Given the description of an element on the screen output the (x, y) to click on. 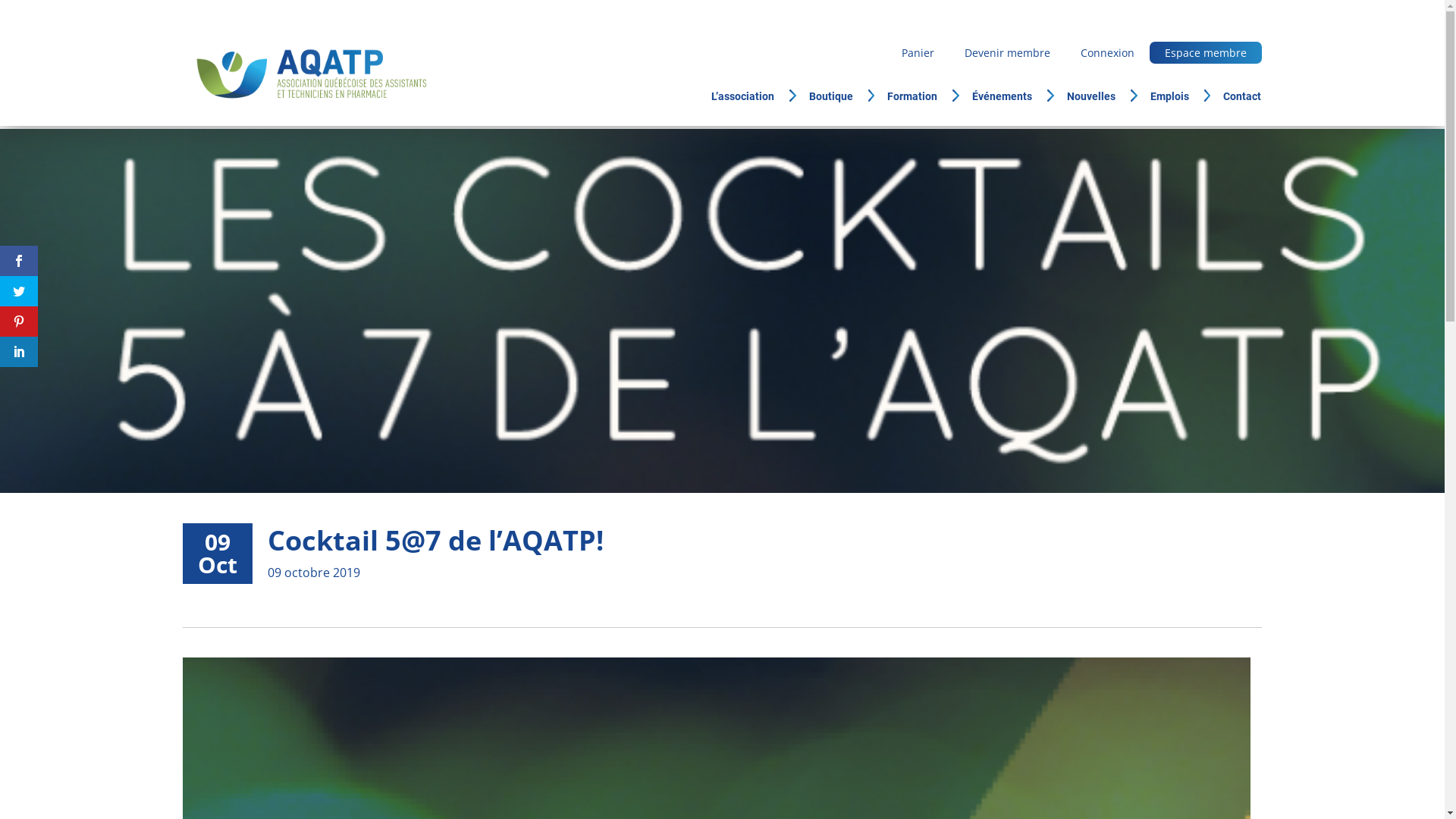
Devenir membre Element type: text (1007, 52)
Connexion Element type: text (1107, 52)
Nouvelles Element type: text (1101, 96)
Panier Element type: text (917, 52)
Emplois Element type: text (1179, 96)
Contact Element type: text (1239, 96)
Formation Element type: text (923, 96)
Boutique Element type: text (841, 96)
Espace membre Element type: text (1205, 52)
